Given the description of an element on the screen output the (x, y) to click on. 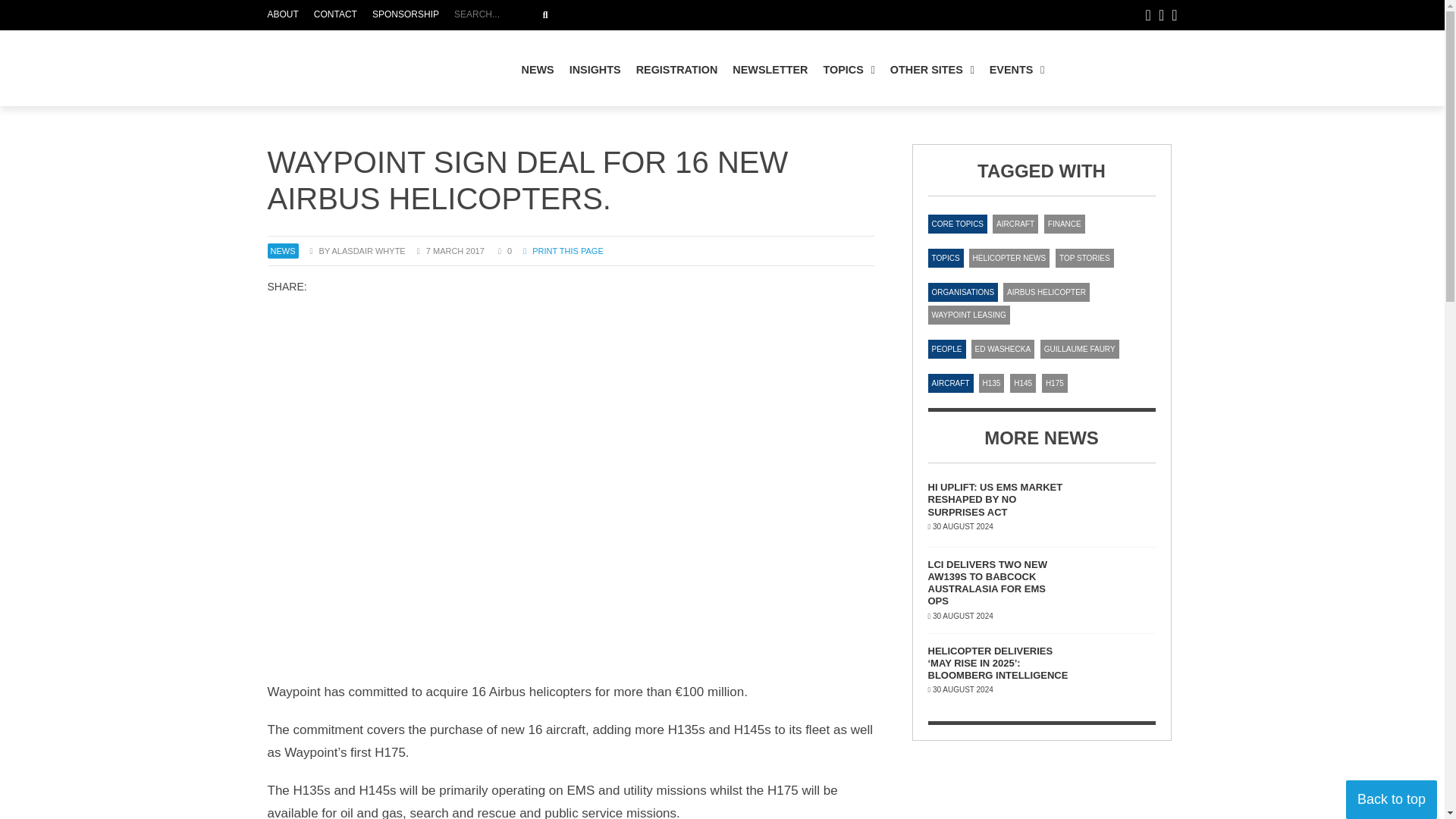
PRINT THIS PAGE (563, 250)
CONTACT (544, 14)
REGISTRATION (335, 15)
SPONSORSHIP (676, 70)
EVENTS (405, 15)
NEWS (1016, 70)
NEWSLETTER (683, 15)
ABOUT (537, 70)
